Given the description of an element on the screen output the (x, y) to click on. 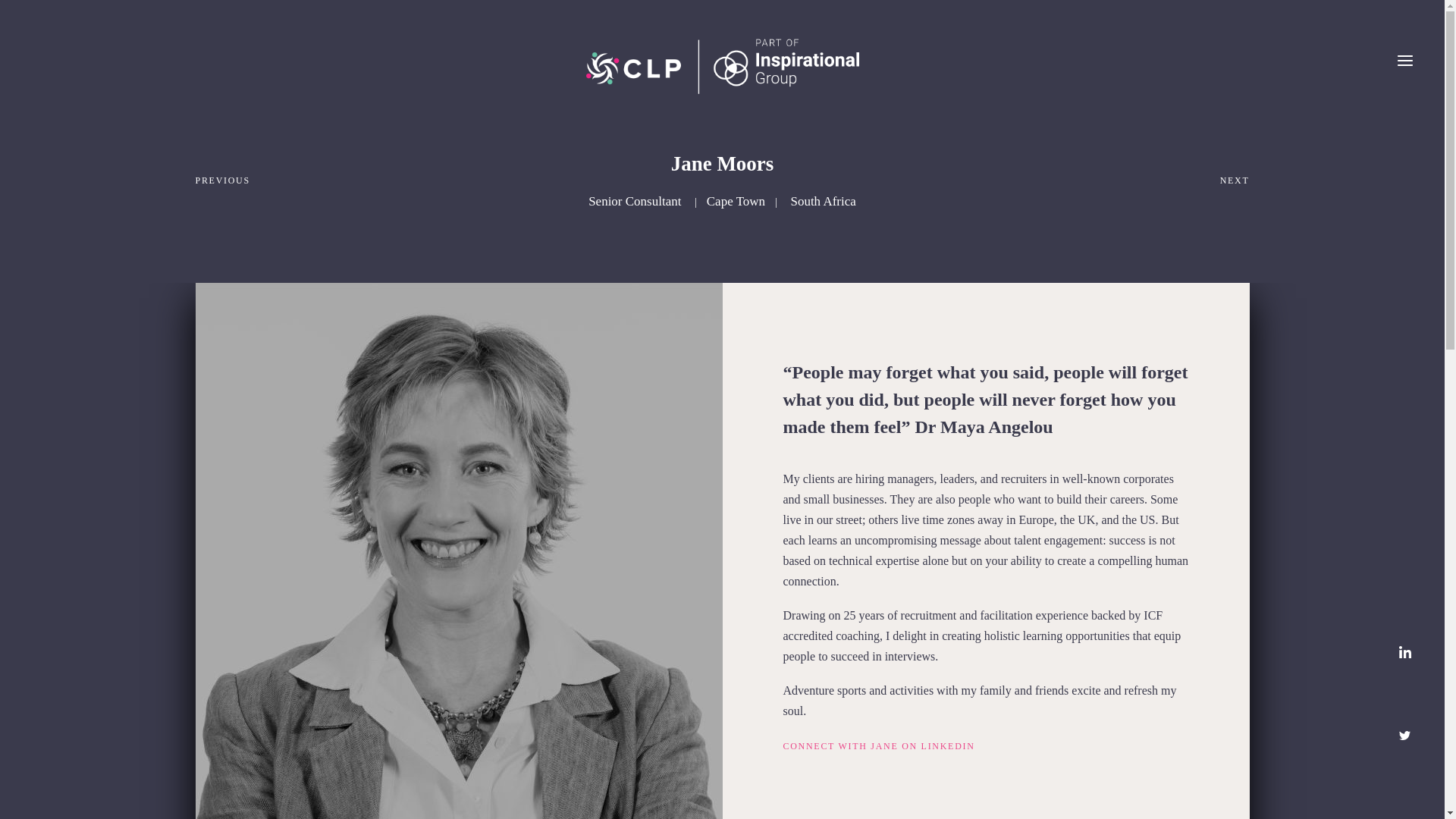
PREVIOUS (232, 180)
NEXT (1211, 180)
CONNECT WITH JANE ON LINKEDIN (878, 746)
